Given the description of an element on the screen output the (x, y) to click on. 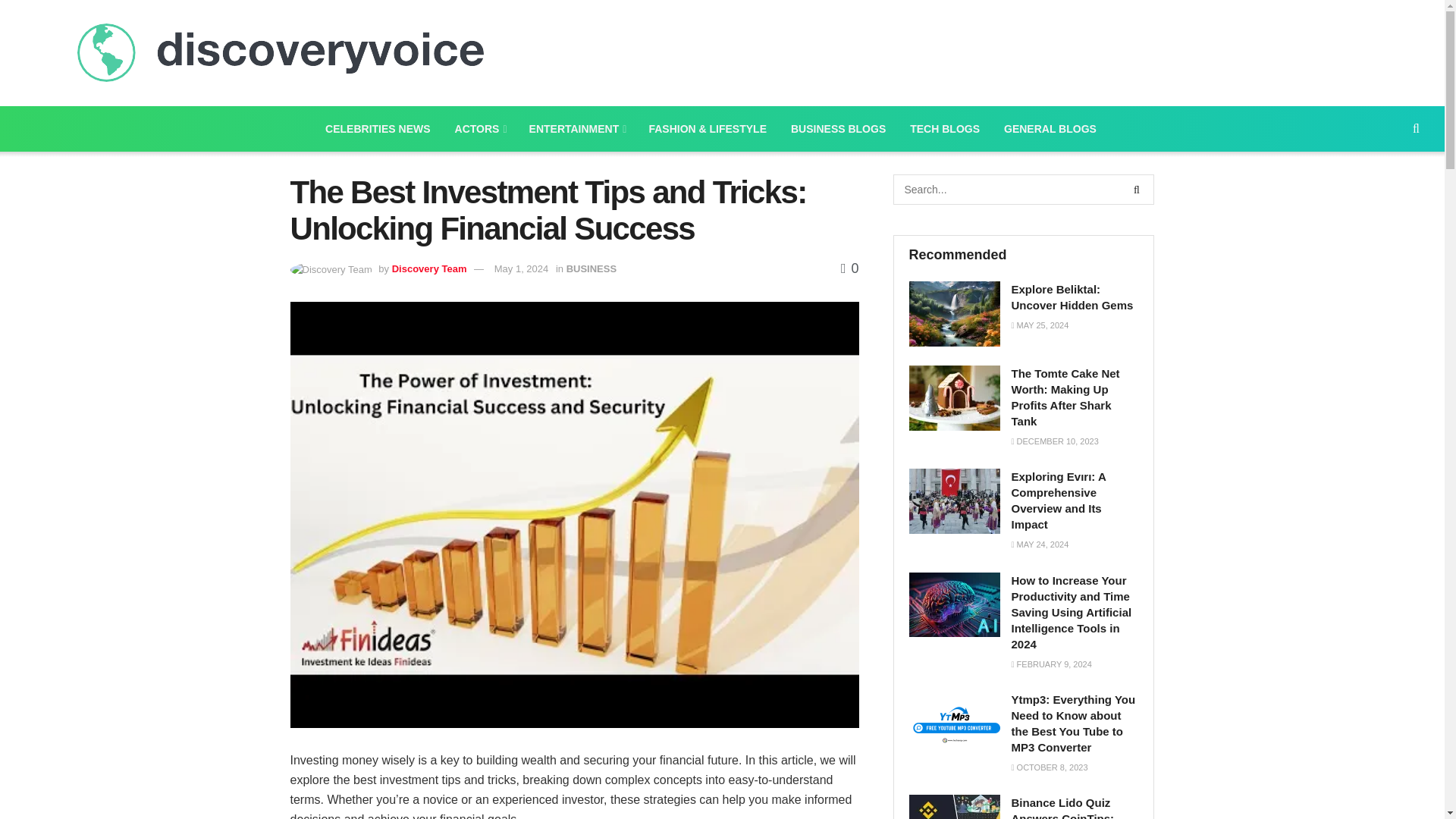
CELEBRITIES NEWS (377, 128)
0 (850, 268)
ACTORS (479, 128)
BUSINESS BLOGS (838, 128)
ENTERTAINMENT (576, 128)
BUSINESS (590, 268)
Discovery Team (429, 268)
TECH BLOGS (944, 128)
May 1, 2024 (521, 268)
GENERAL BLOGS (1049, 128)
